Given the description of an element on the screen output the (x, y) to click on. 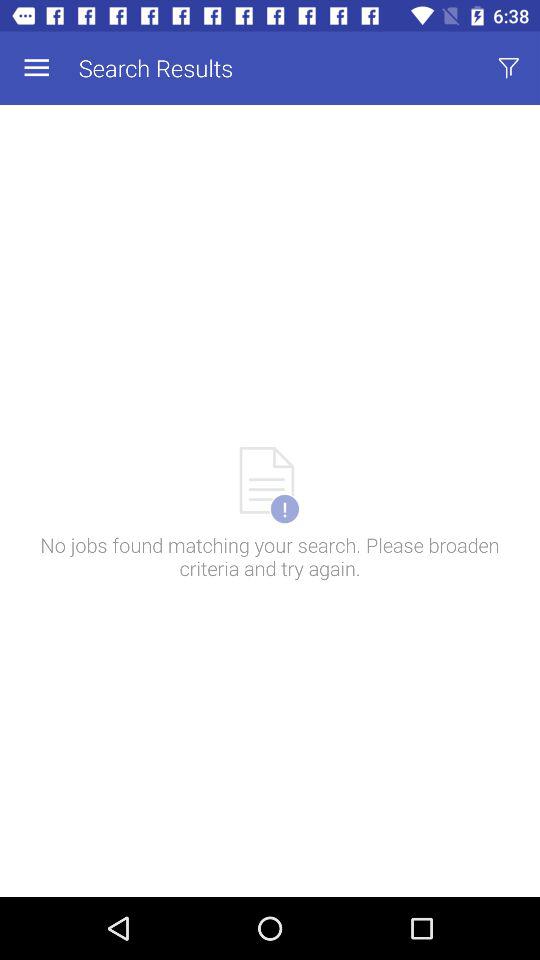
press app to the left of search results item (36, 68)
